Given the description of an element on the screen output the (x, y) to click on. 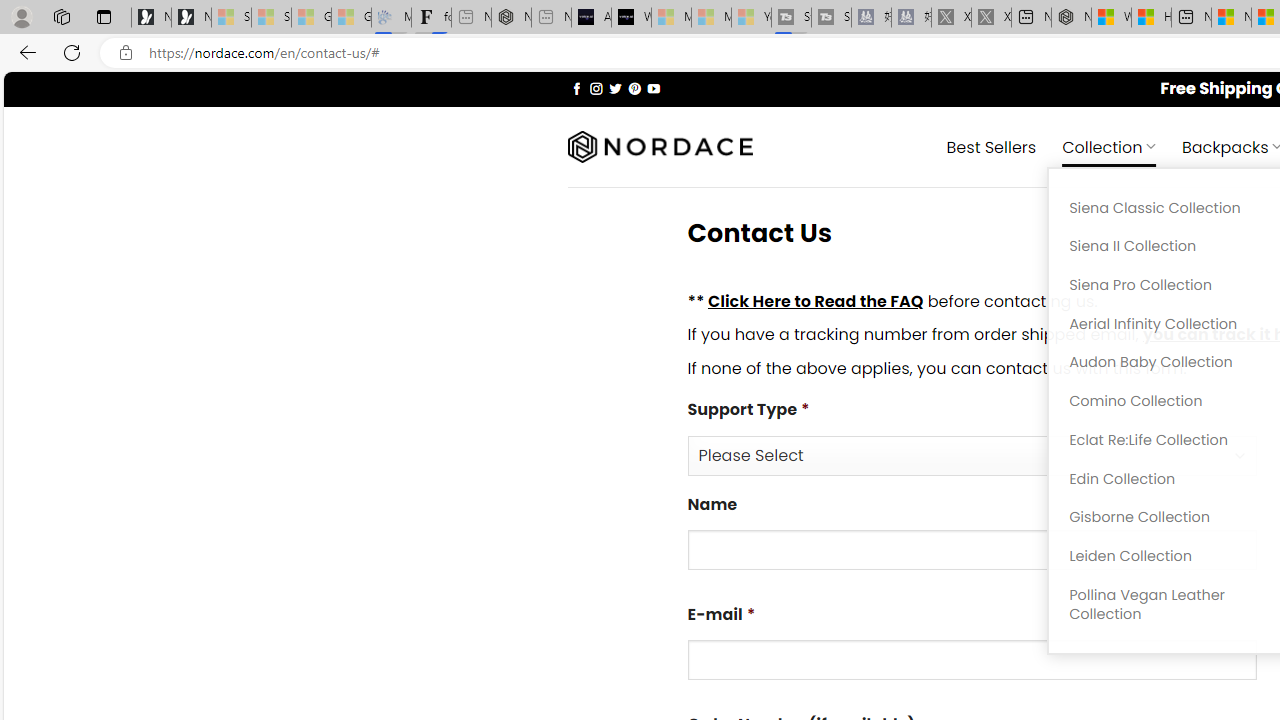
Nordace - My Account (1071, 17)
Click Here to Read the FAQ (815, 300)
E-mail* (971, 660)
Microsoft Start Sports - Sleeping (671, 17)
